Given the description of an element on the screen output the (x, y) to click on. 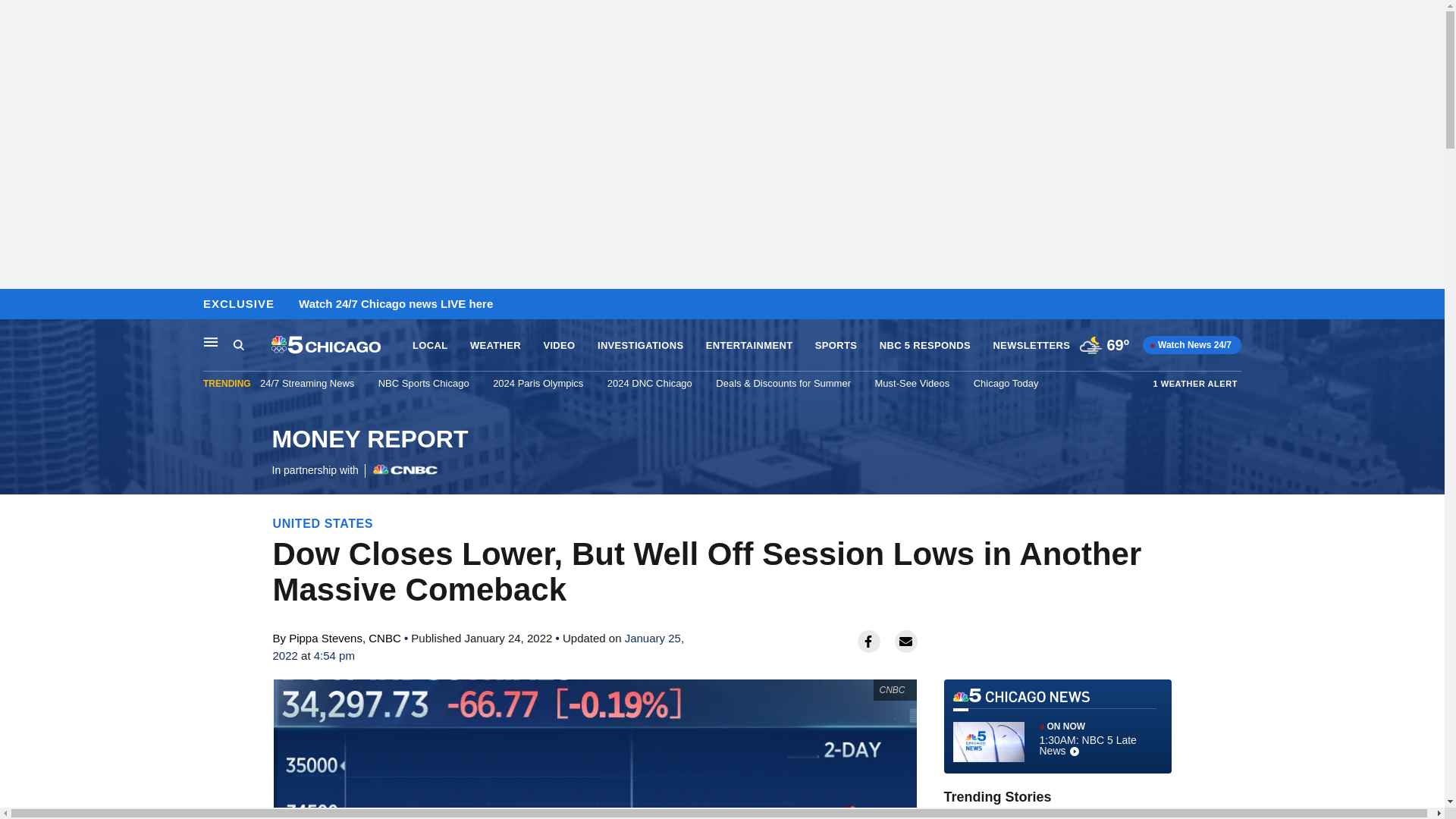
WEATHER (495, 345)
2024 DNC Chicago (650, 383)
UNITED STATES (323, 523)
Chicago Today (1006, 383)
NBC 5 RESPONDS (925, 345)
NEWSLETTERS (1031, 345)
NBC Sports Chicago (423, 383)
Search (238, 344)
VIDEO (559, 345)
Search (368, 452)
Main Navigation (252, 345)
Must-See Videos (210, 341)
LOCAL (912, 383)
SPORTS (429, 345)
